Given the description of an element on the screen output the (x, y) to click on. 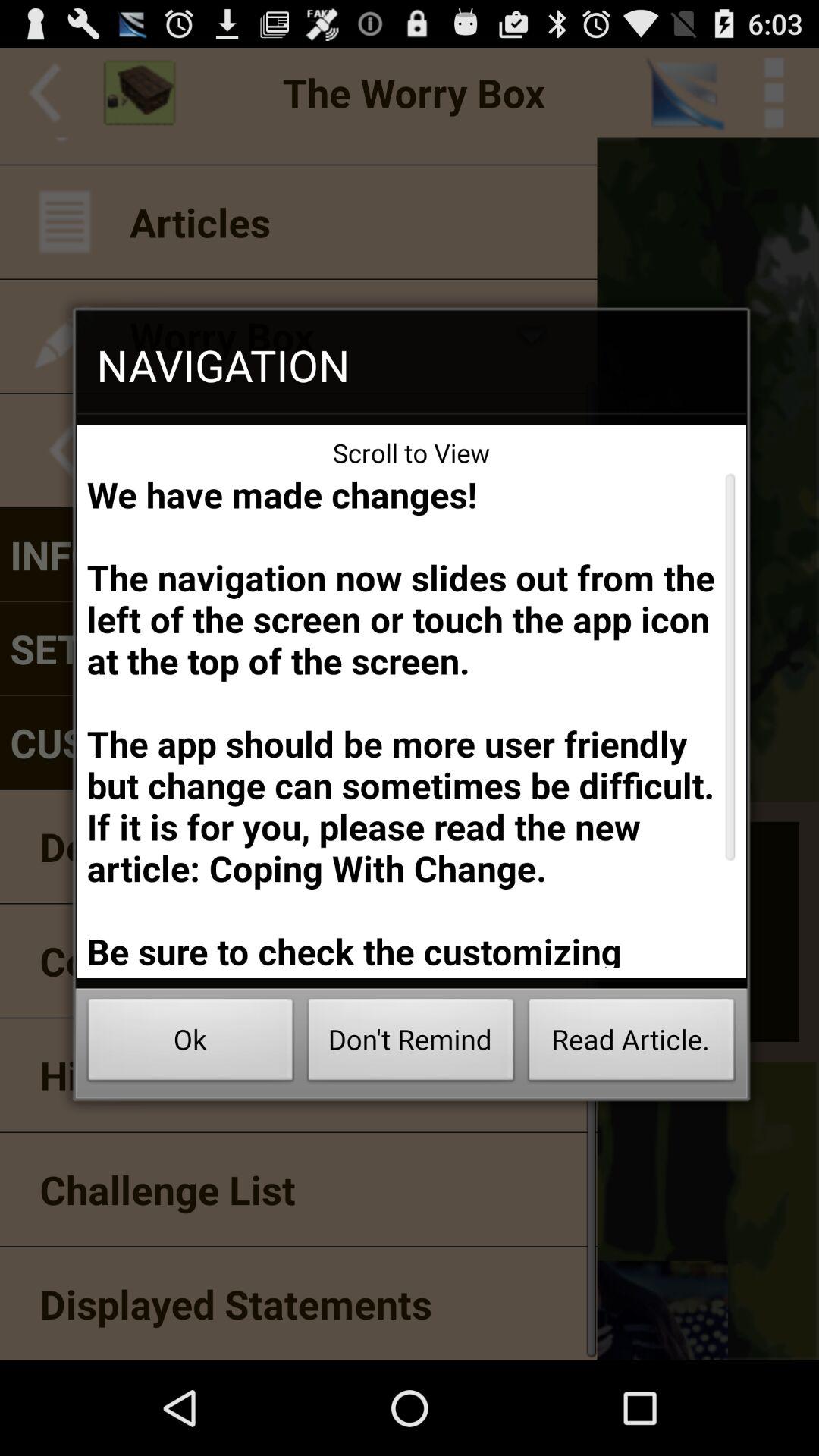
select the item to the left of don't remind (190, 1044)
